Given the description of an element on the screen output the (x, y) to click on. 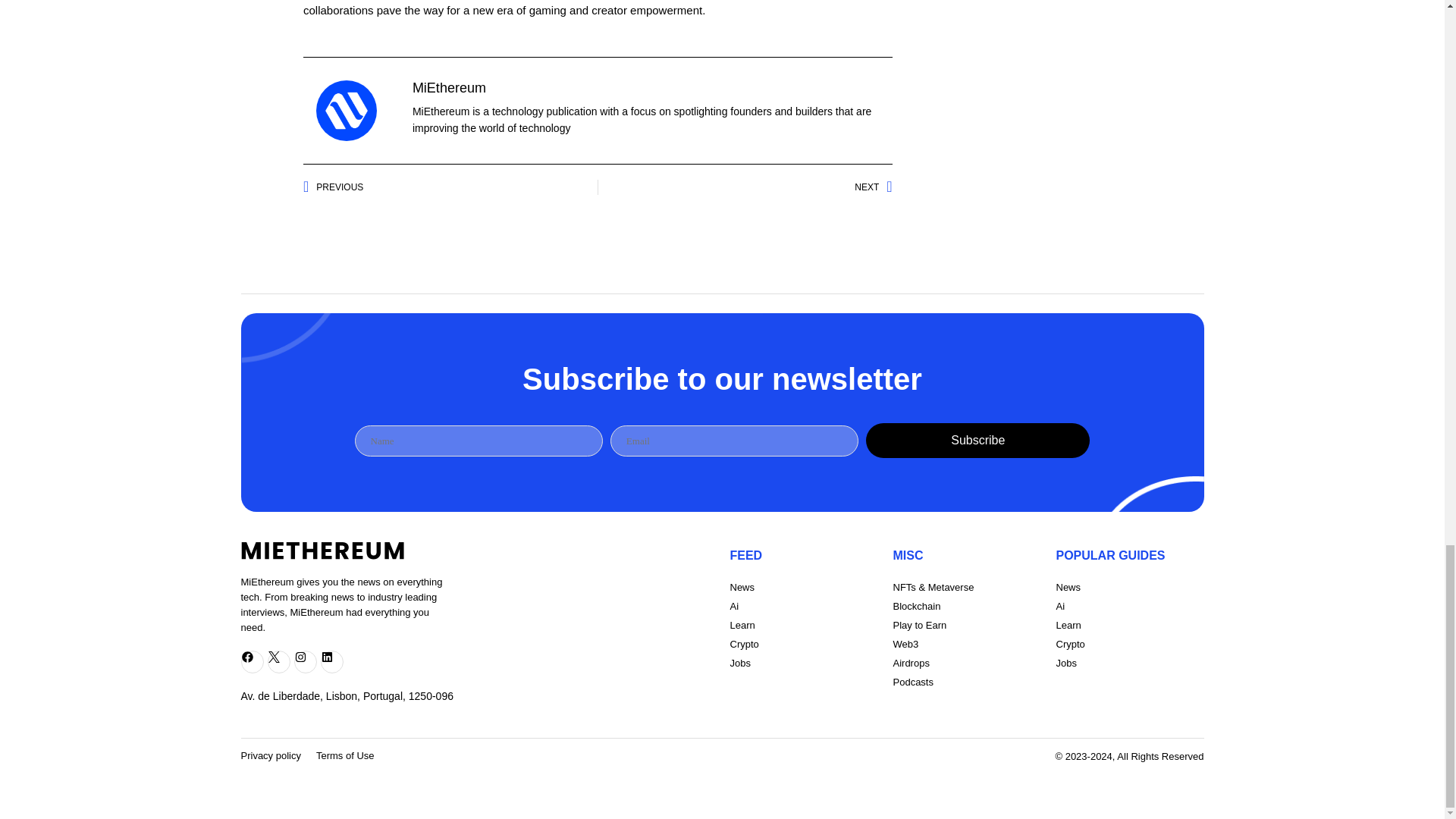
NEXT (745, 186)
PREVIOUS (449, 186)
MiEthereum (449, 87)
